Given the description of an element on the screen output the (x, y) to click on. 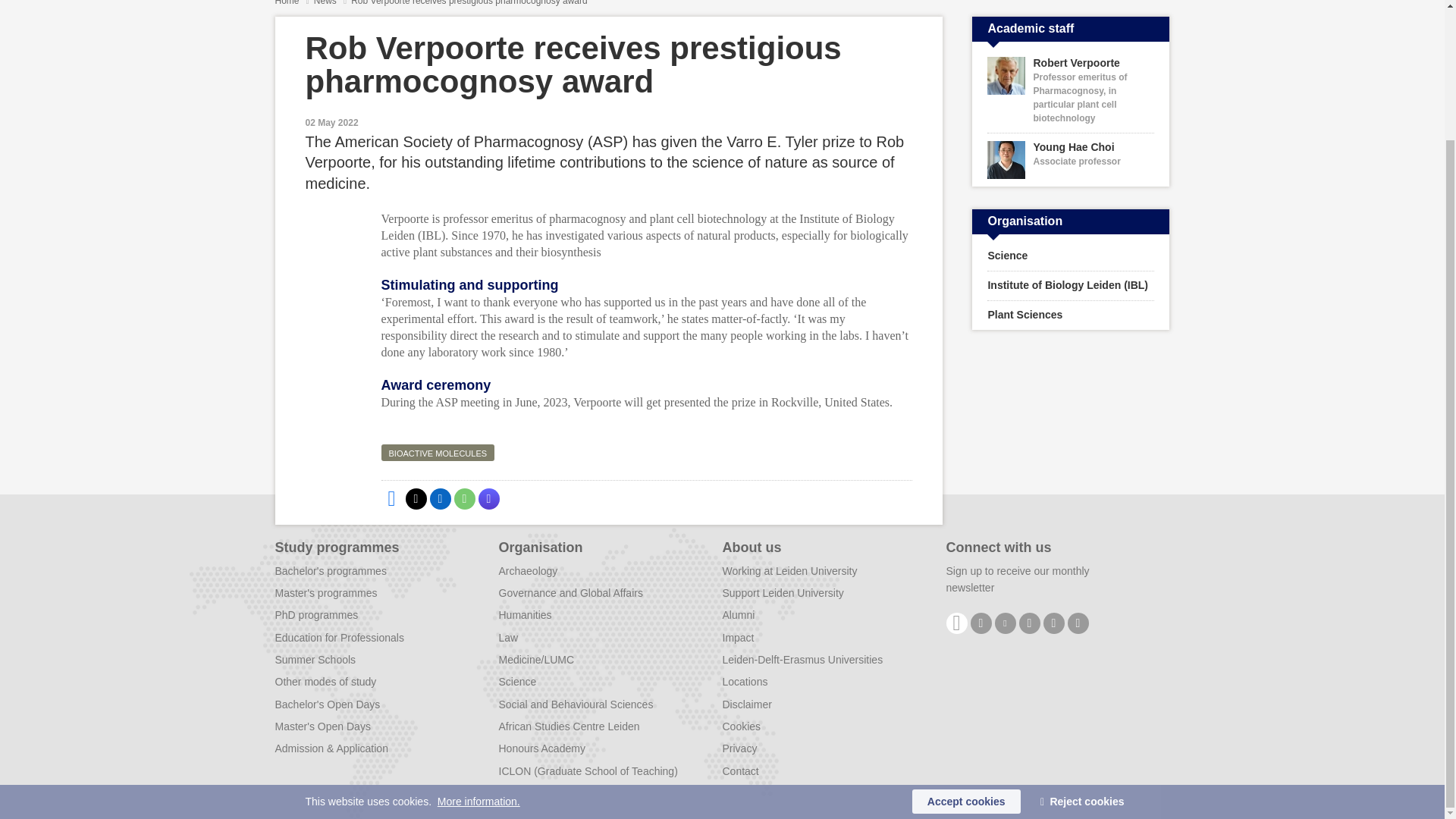
News (1070, 159)
Share on LinkedIn (326, 2)
Home (439, 498)
Share on X (286, 2)
Share on Facebook (415, 498)
Share by Mastodon (390, 498)
Share by WhatsApp (488, 498)
BIOACTIVE MOLECULES (463, 498)
